Given the description of an element on the screen output the (x, y) to click on. 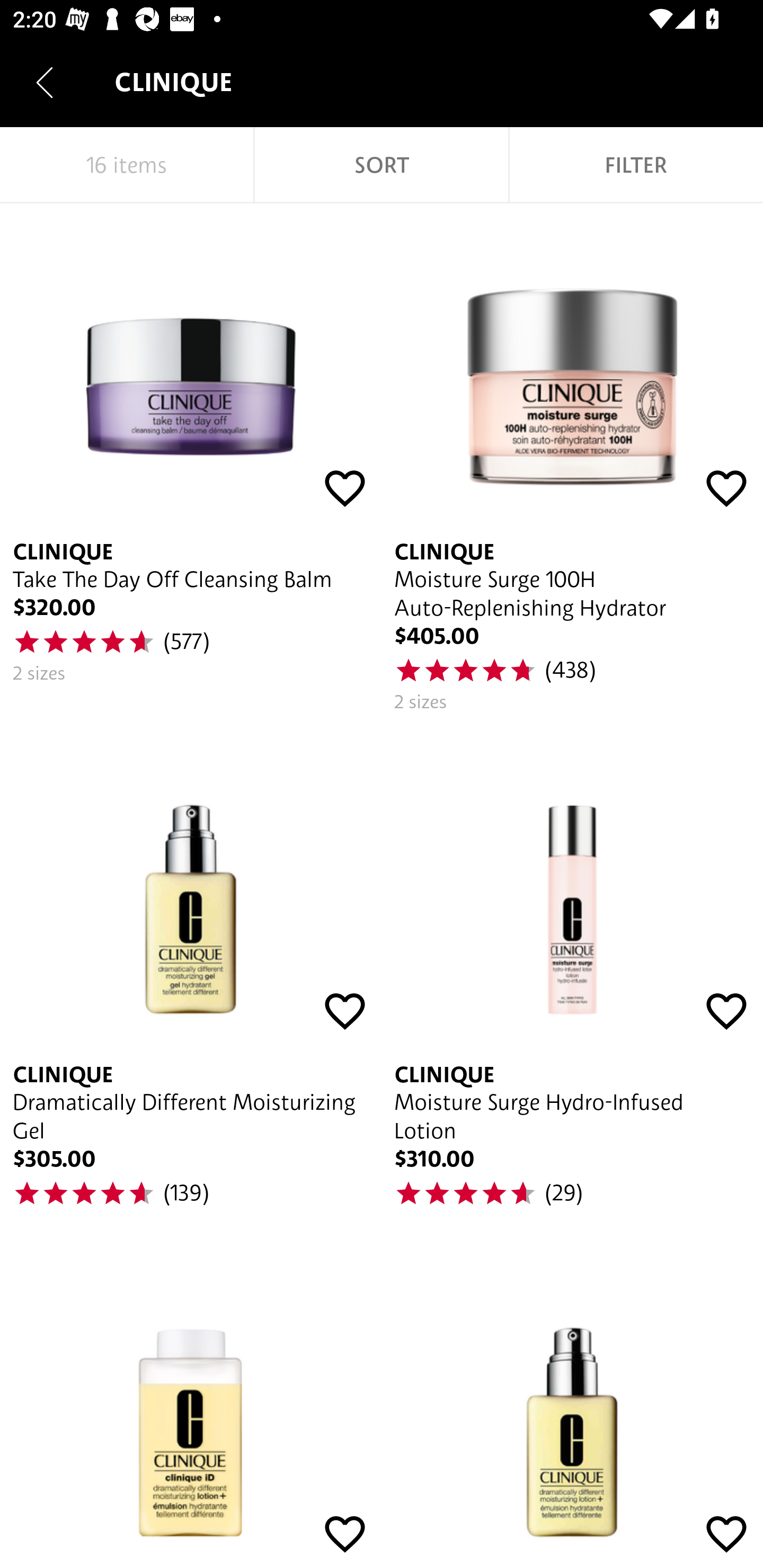
Navigate up (44, 82)
SORT (381, 165)
FILTER (636, 165)
